Given the description of an element on the screen output the (x, y) to click on. 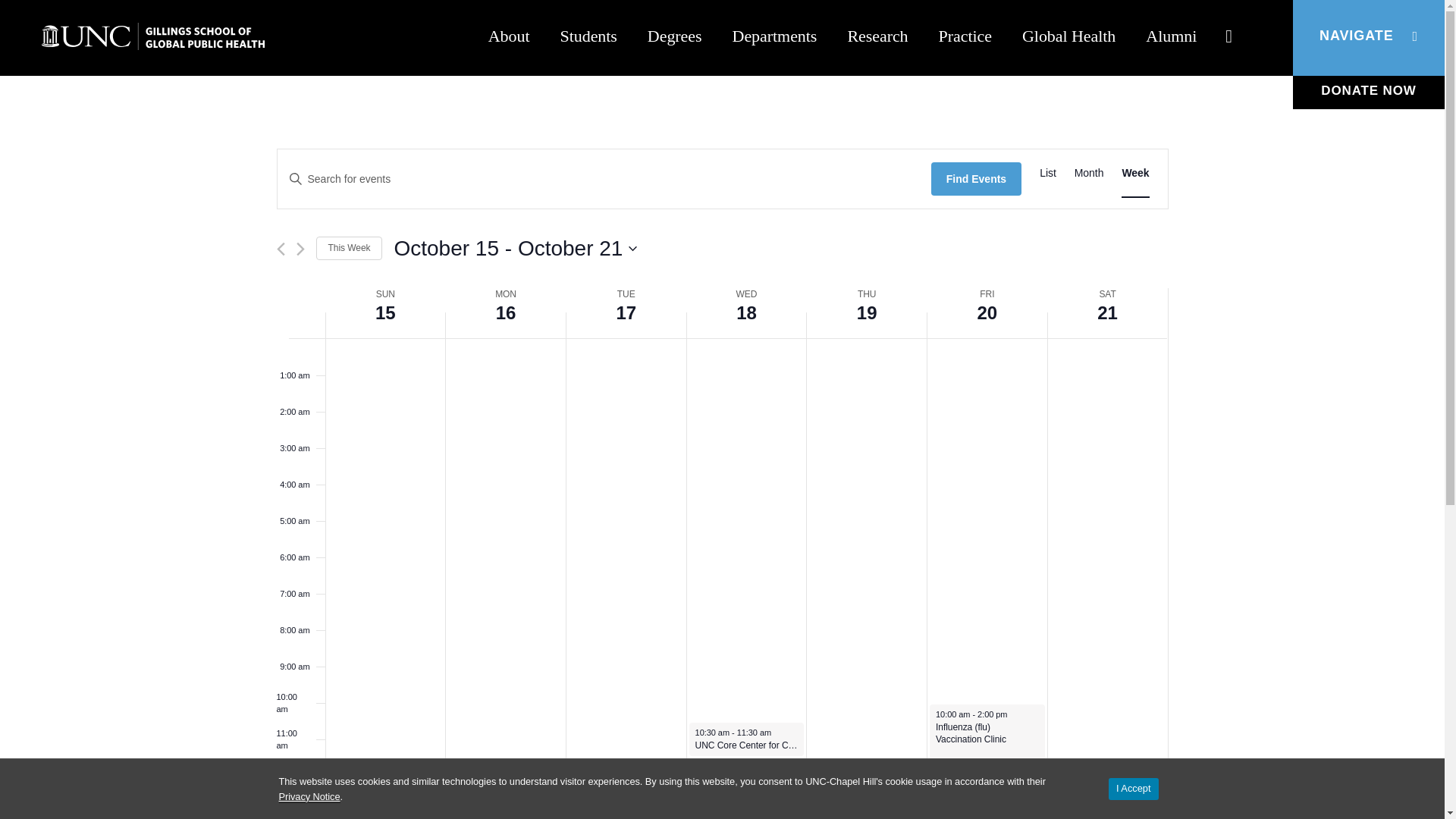
About (508, 38)
Practice (965, 38)
Click to toggle datepicker (515, 248)
Alumni (1171, 38)
Degrees (674, 38)
Departments (774, 38)
I Accept (1133, 789)
Research (877, 38)
Click to select the current week (348, 248)
Students (587, 38)
Privacy Notice (309, 797)
Global Health (1069, 38)
